Given the description of an element on the screen output the (x, y) to click on. 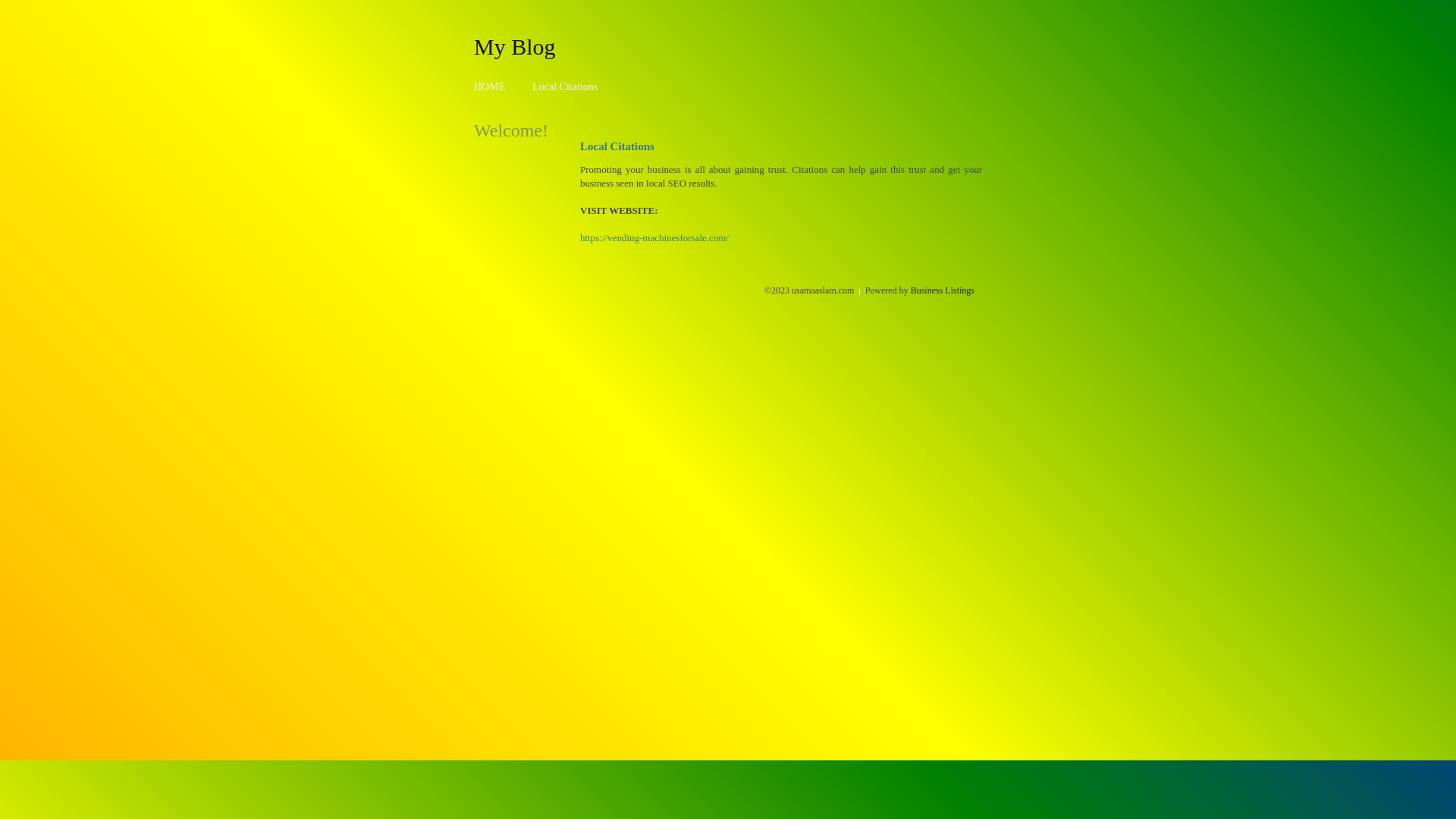
HOME Element type: text (489, 86)
Local Citations Element type: text (564, 86)
Business Listings Element type: text (942, 290)
My Blog Element type: text (514, 46)
https://vending-machinesforsale.com/ Element type: text (654, 237)
